Given the description of an element on the screen output the (x, y) to click on. 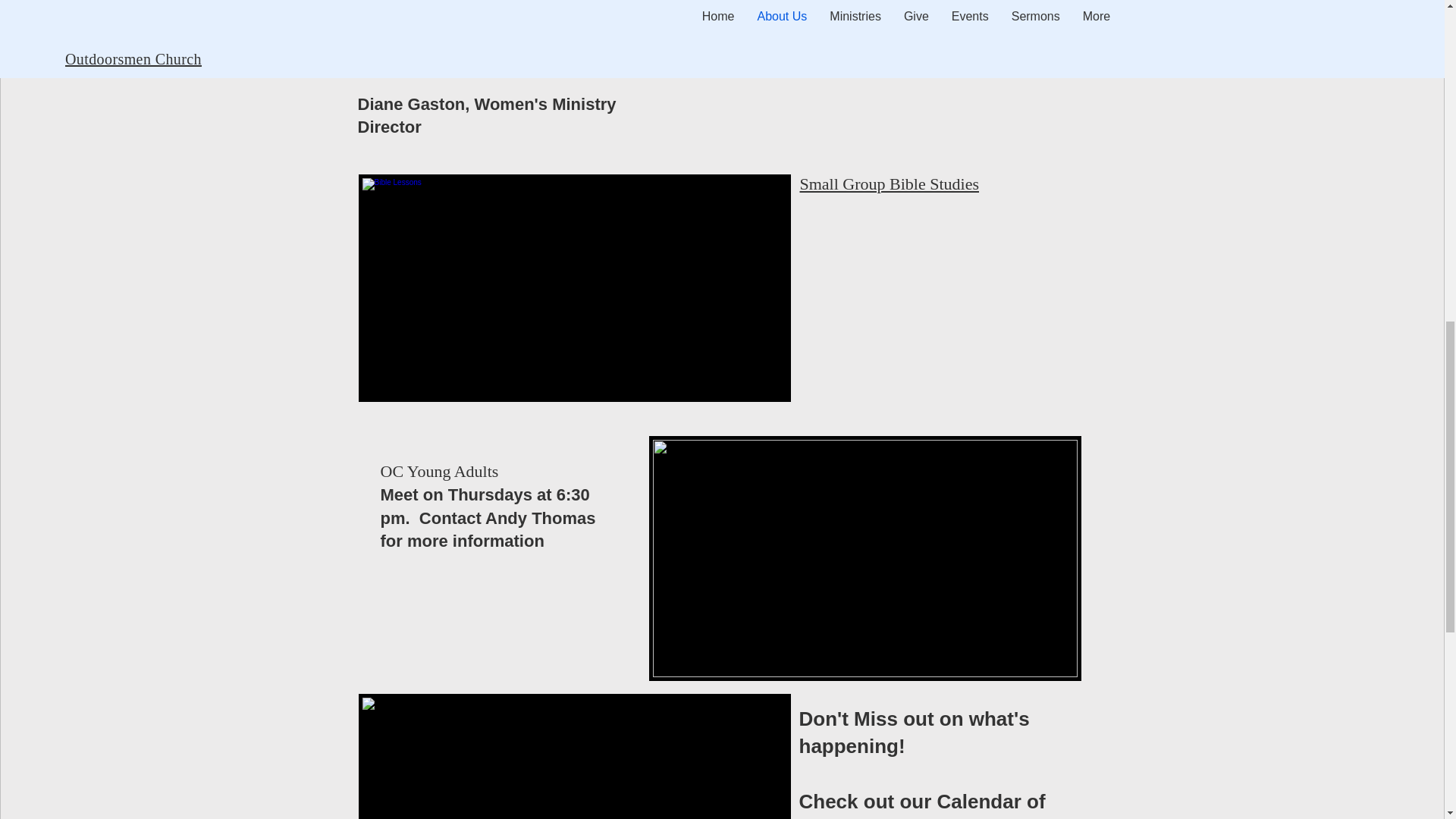
Group of Friends (865, 557)
Small Group Bible Studies (888, 183)
